Given the description of an element on the screen output the (x, y) to click on. 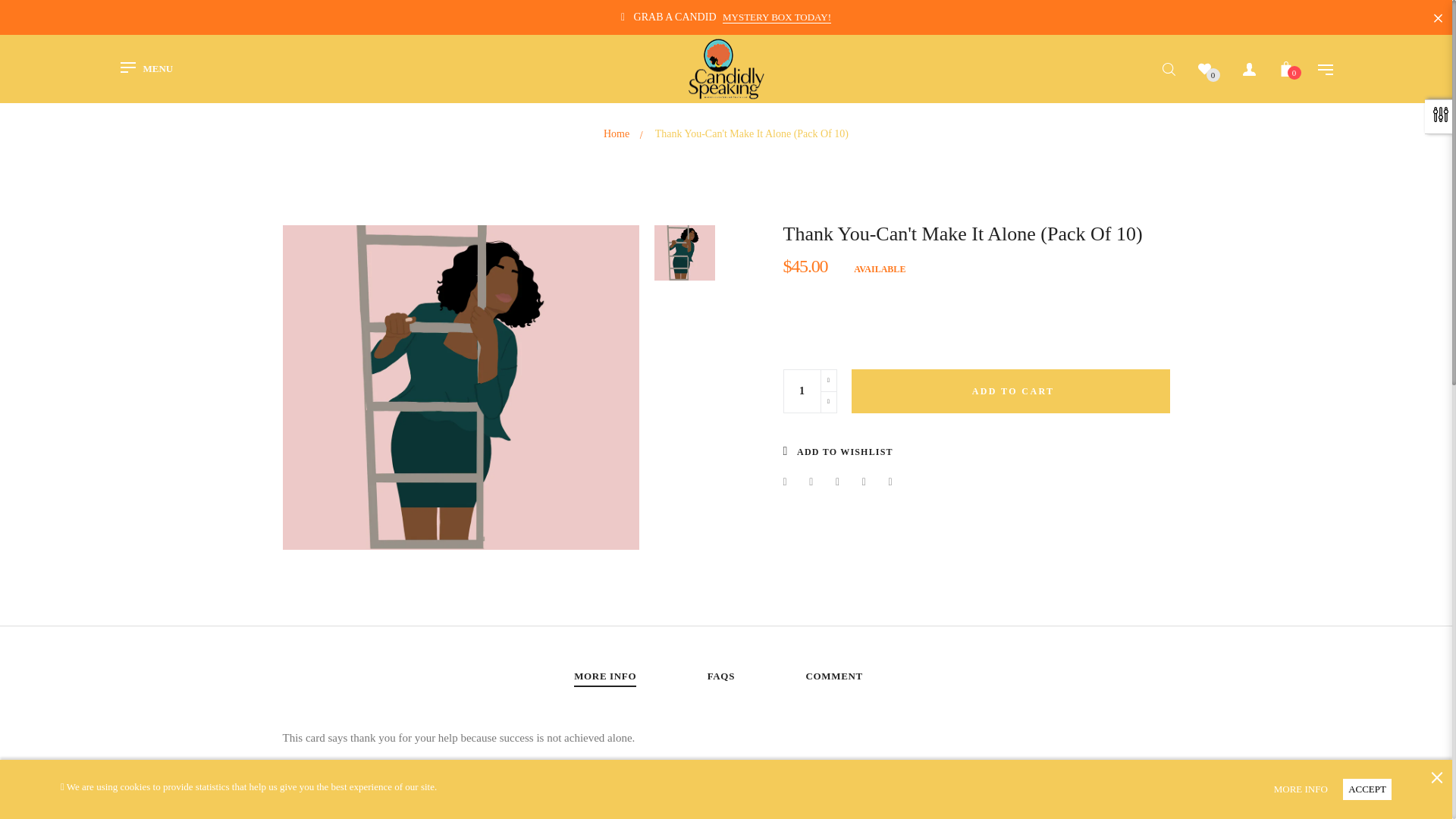
Home (616, 133)
Sign In (1152, 303)
MYSTERY BOX TODAY! (776, 17)
Wishlist (1209, 73)
0 (1286, 71)
0 (146, 68)
